Given the description of an element on the screen output the (x, y) to click on. 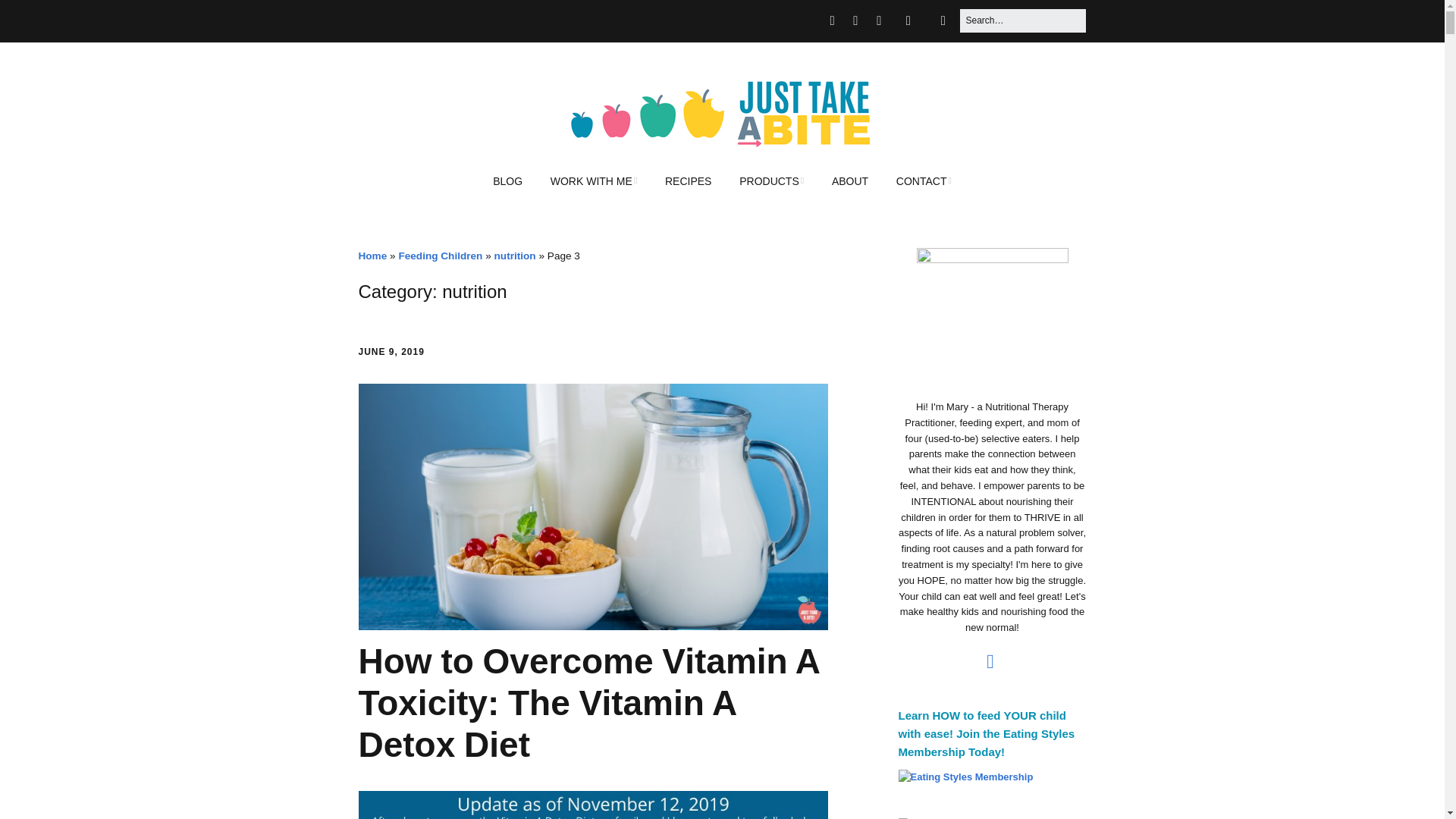
Press Enter to submit your search (1022, 20)
Feeding Children (439, 255)
JUNE 9, 2019 (390, 351)
WORK WITH ME (593, 182)
RECIPES (687, 182)
Search (29, 16)
Home (372, 255)
nutrition (515, 255)
BLOG (507, 182)
ABOUT (849, 182)
PRODUCTS (770, 182)
CONTACT (923, 182)
